Given the description of an element on the screen output the (x, y) to click on. 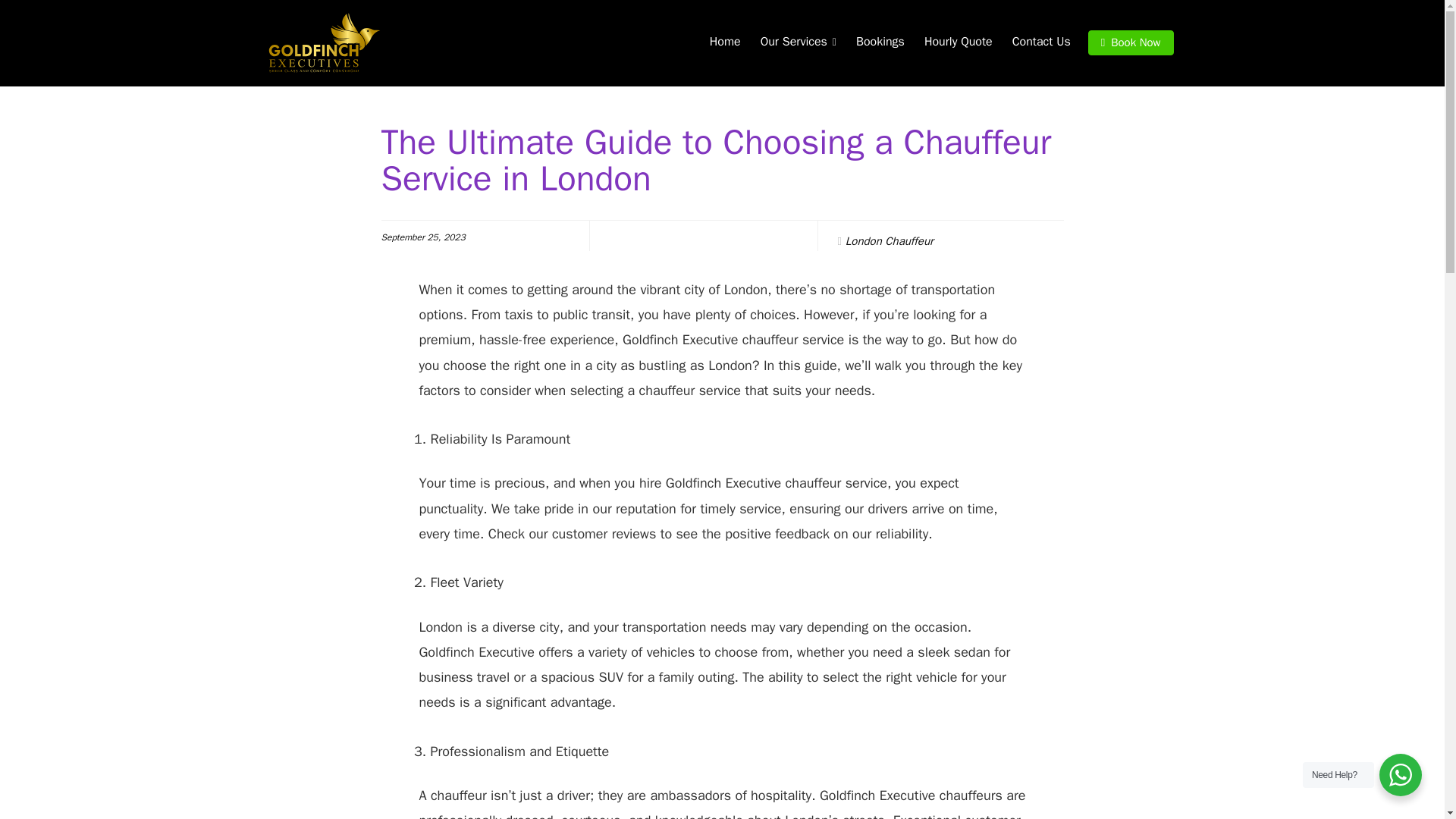
Bookings (879, 42)
Hourly Quote (958, 42)
View all posts in London Chauffeur (889, 241)
Home (725, 42)
Book Now (1130, 42)
Contact Us (1041, 42)
London Chauffeur (889, 241)
Our Services (798, 42)
